Given the description of an element on the screen output the (x, y) to click on. 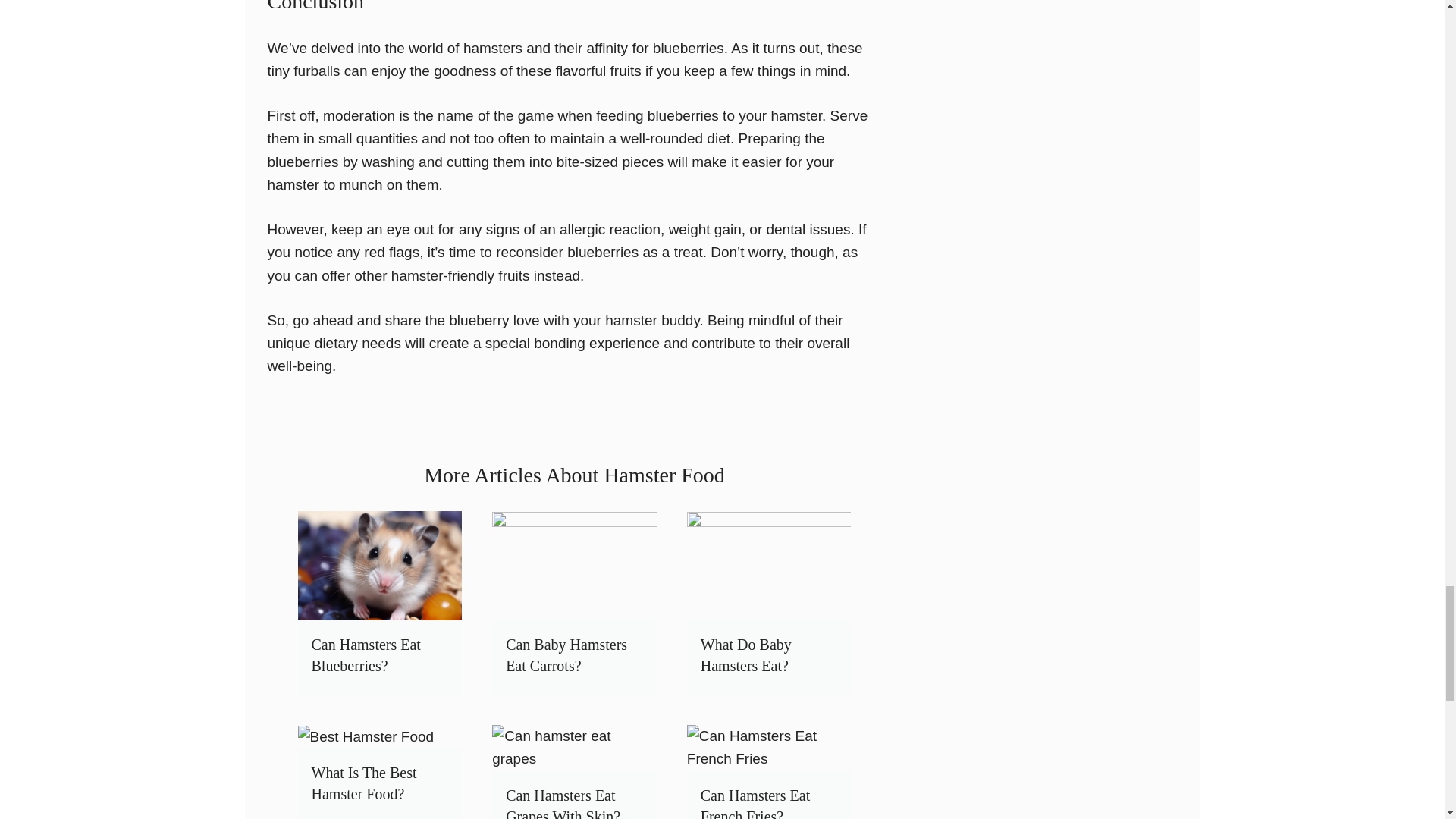
Can Baby Hamsters Eat Carrots? (566, 655)
What Is The Best Hamster Food? (363, 783)
Can Hamsters Eat French Fries? (754, 803)
Can Hamsters Eat Blueberries? (365, 655)
What Do Baby Hamsters Eat? (746, 655)
Can Hamsters Eat Grapes With Skin? Risks and Benefits (562, 803)
